Given the description of an element on the screen output the (x, y) to click on. 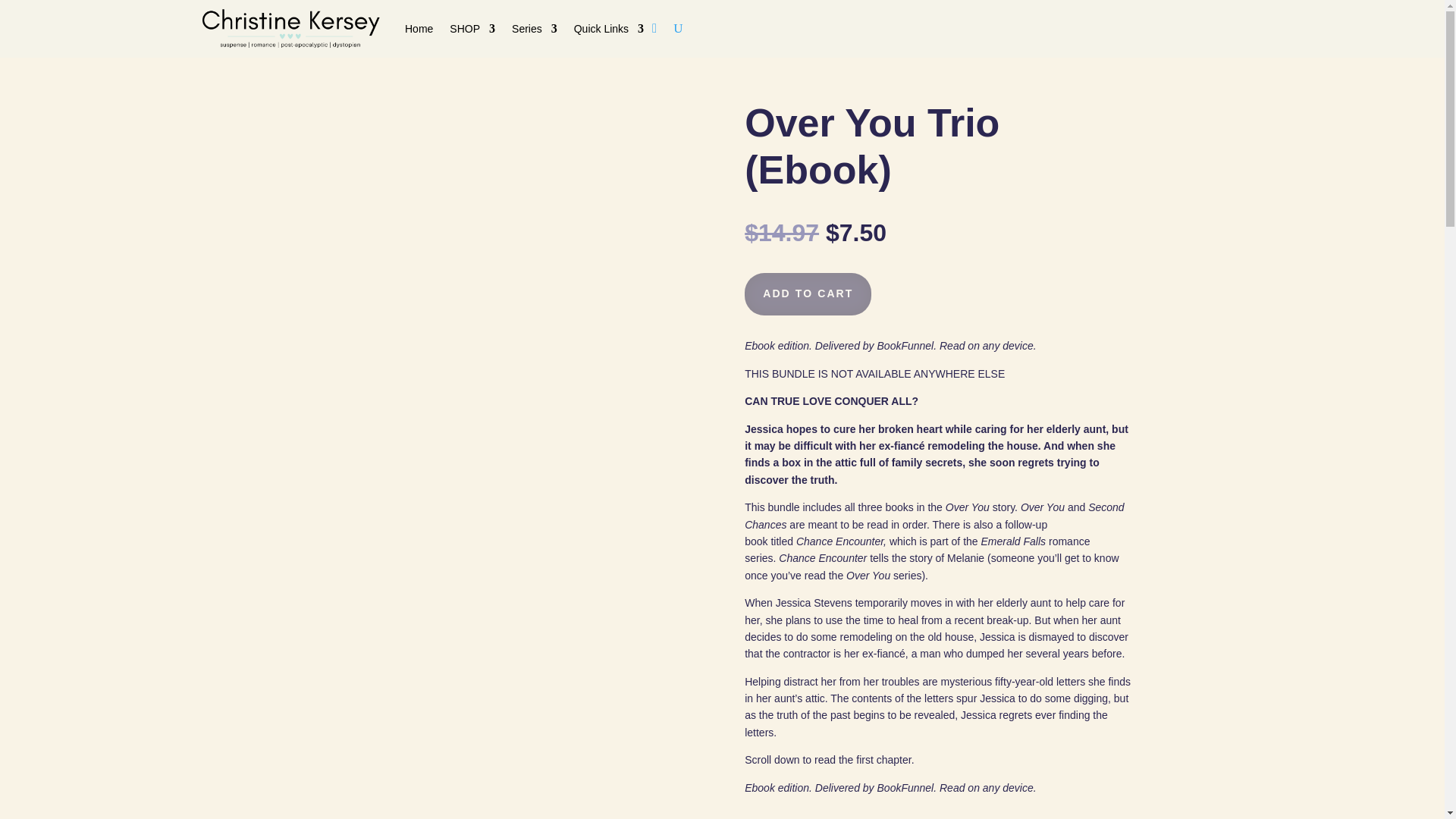
Quick Links (608, 28)
ADD TO CART (807, 293)
